Given the description of an element on the screen output the (x, y) to click on. 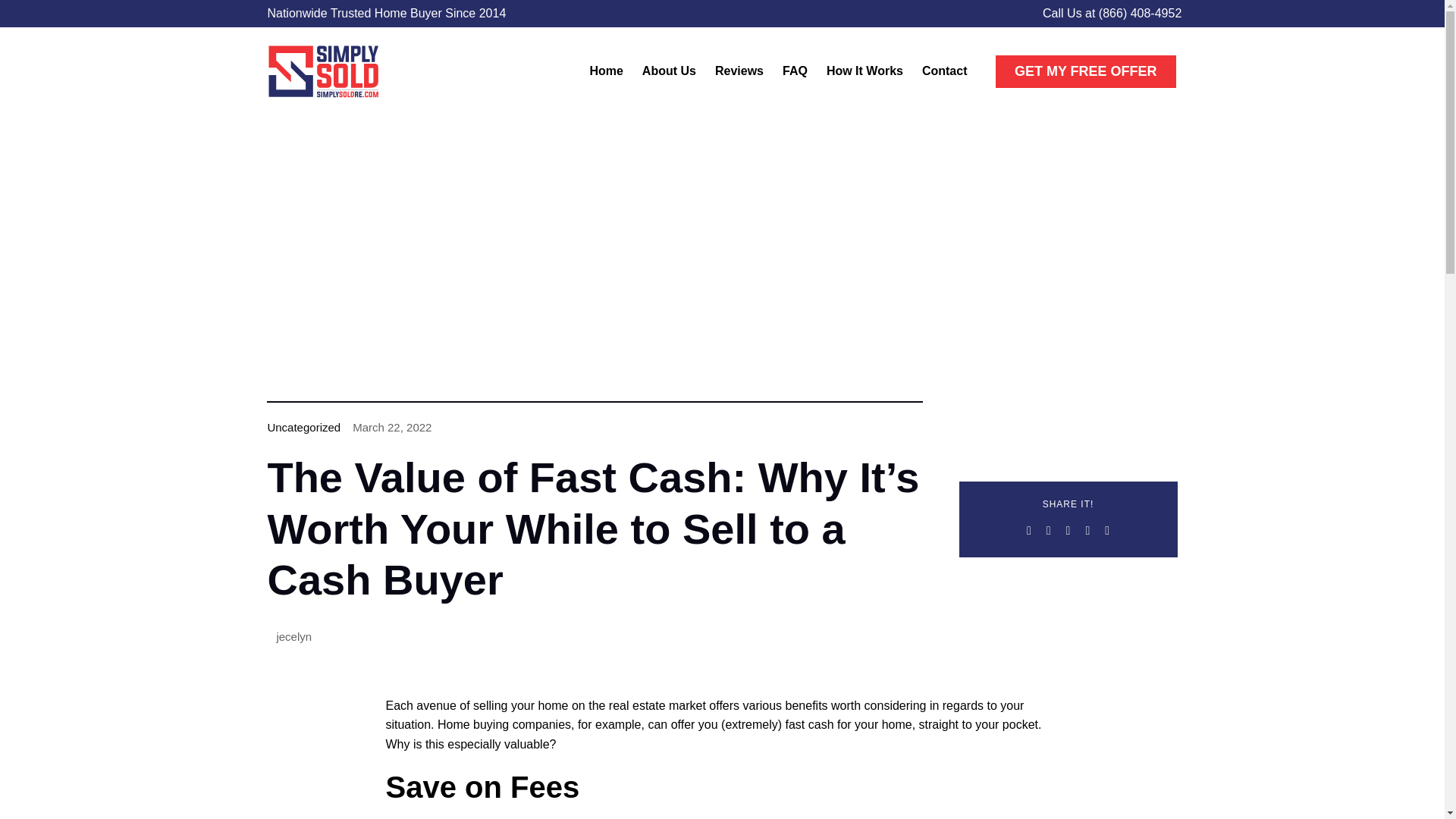
GET MY FREE OFFER (1085, 71)
About Us (668, 71)
Uncategorized (303, 427)
Contact (944, 71)
Reviews (738, 71)
Reddit (1068, 530)
Uncategorized (303, 427)
X (1048, 530)
Pinterest (1106, 530)
Facebook (1029, 530)
